Given the description of an element on the screen output the (x, y) to click on. 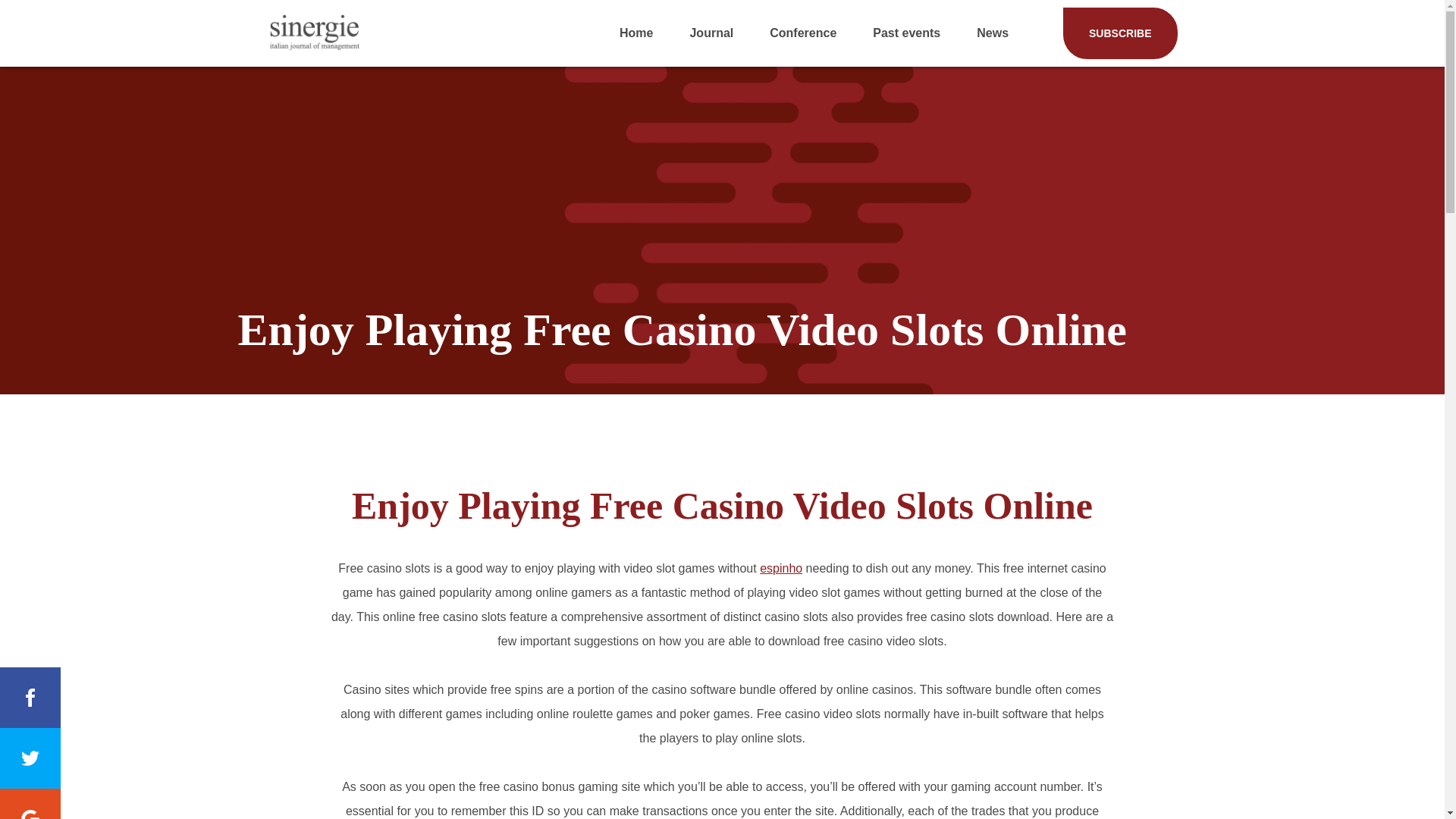
Conference (802, 33)
Past events (906, 33)
SUBSCRIBE (1119, 32)
espinho (781, 567)
